Given the description of an element on the screen output the (x, y) to click on. 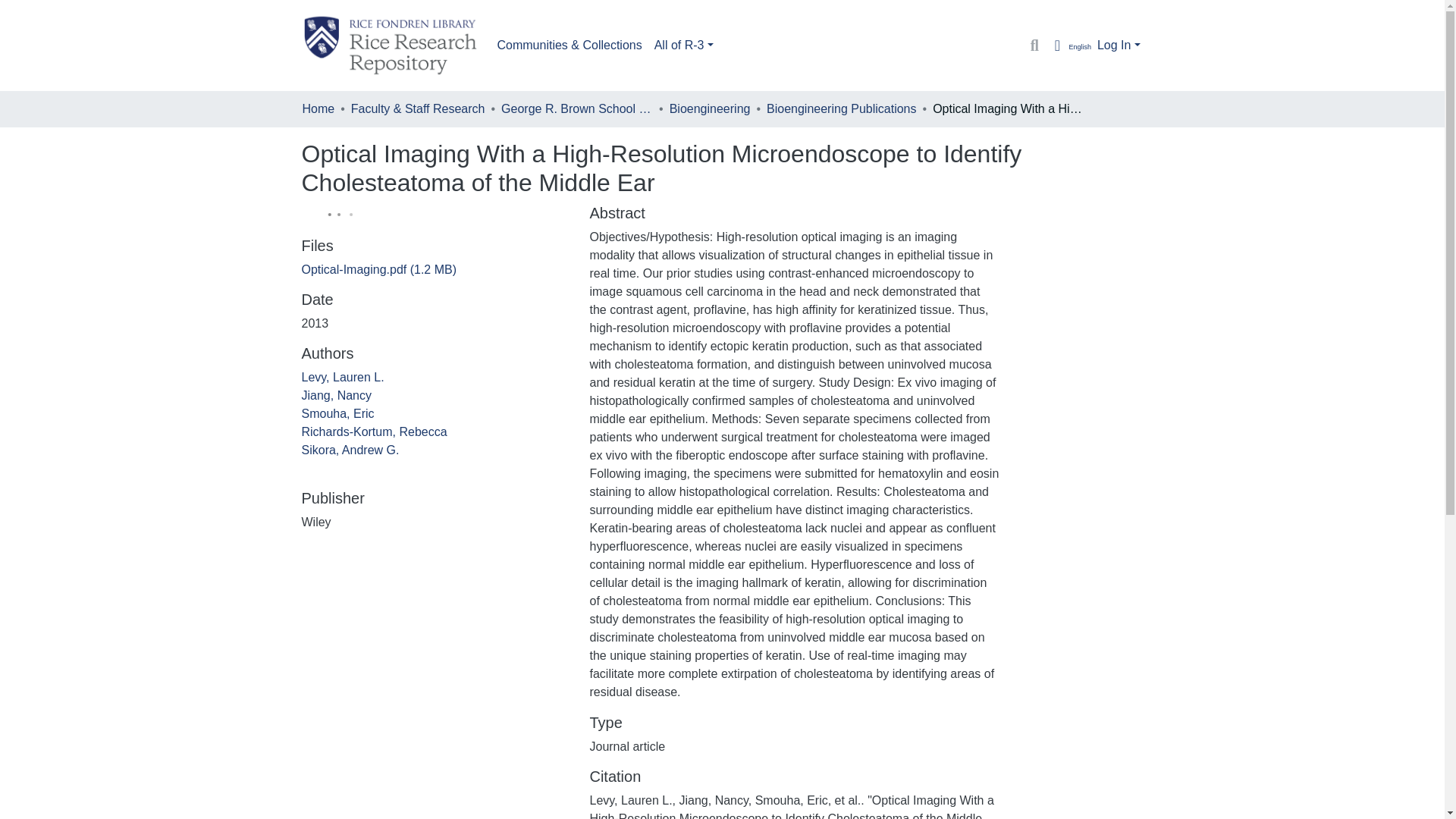
Richards-Kortum, Rebecca (373, 431)
Home (317, 108)
All of R-3 (683, 45)
Smouha, Eric (337, 413)
George R. Brown School of Engineering and Computing (576, 108)
Jiang, Nancy (336, 395)
Levy, Lauren L. (342, 377)
Sikora, Andrew G. (349, 449)
English (1069, 45)
Bioengineering (710, 108)
